Given the description of an element on the screen output the (x, y) to click on. 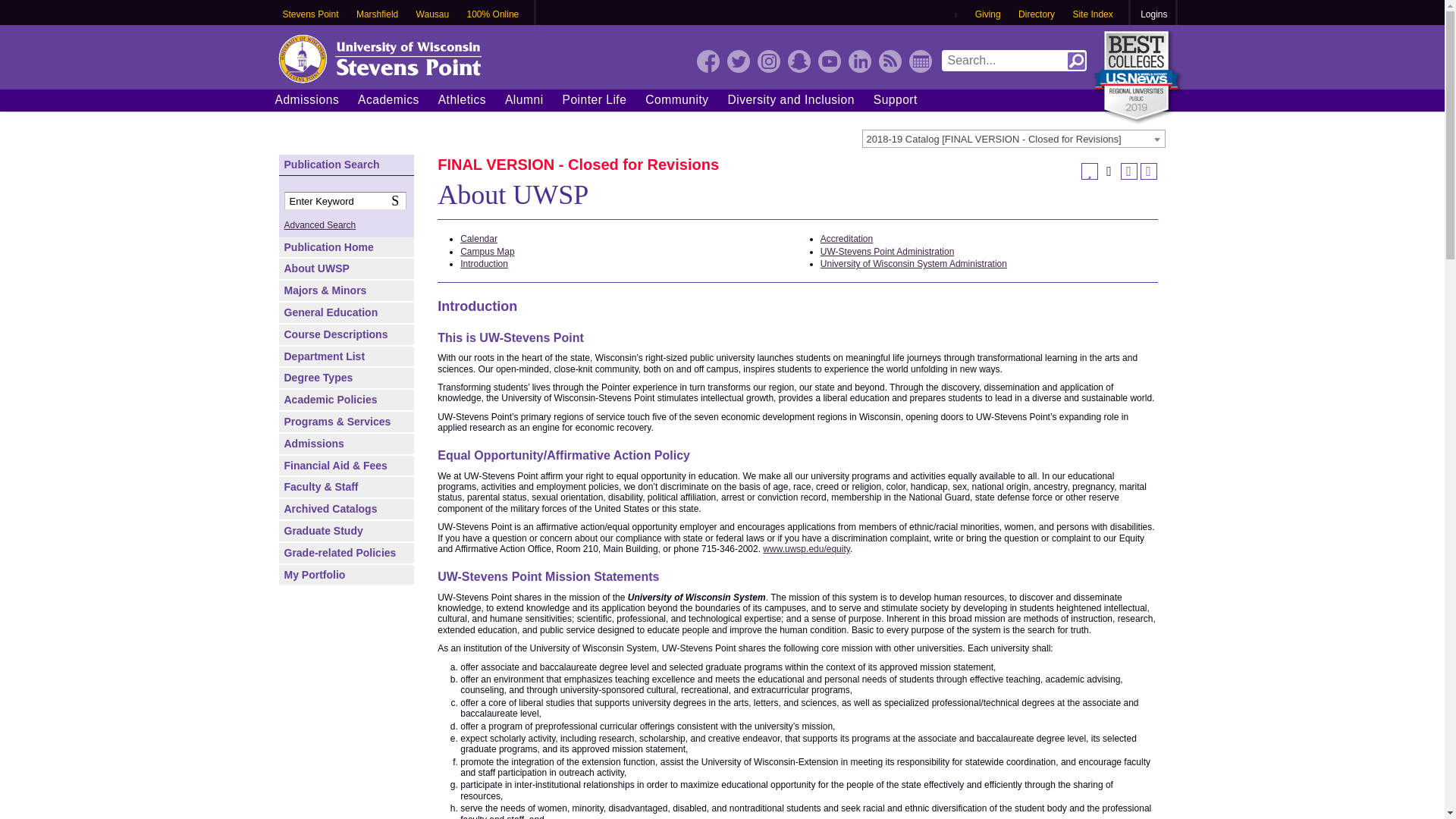
Academics (388, 99)
Giving (988, 14)
Instagram (767, 60)
Facebook (707, 60)
Community (676, 99)
Athletics (461, 99)
YouTube (828, 60)
Pointer Life (593, 99)
SnapChat (798, 60)
Admissions (306, 99)
Stevens Point (310, 14)
Twitter (737, 60)
UWSP Blog (889, 60)
Select a Publication (1012, 138)
